Given the description of an element on the screen output the (x, y) to click on. 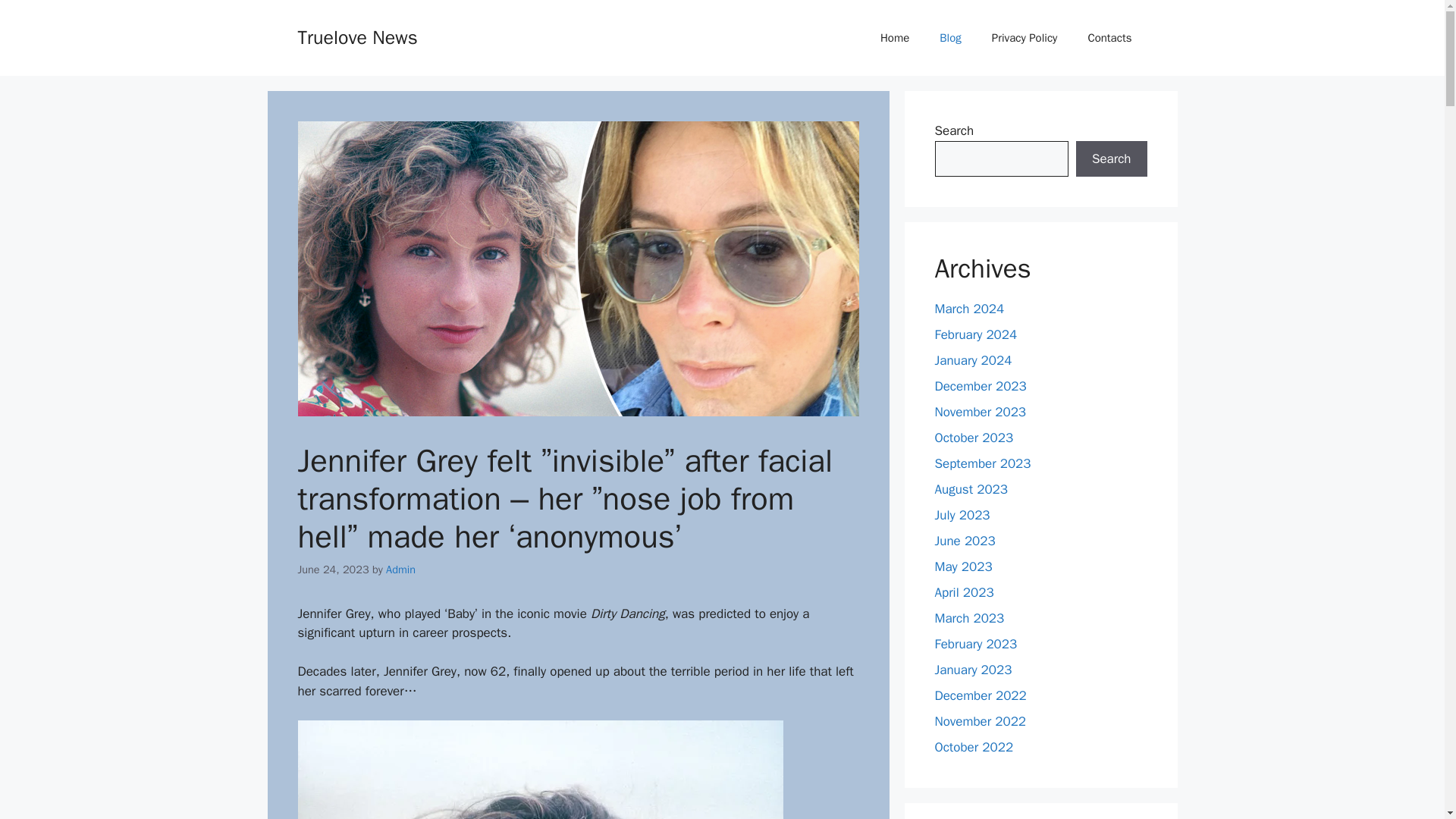
Admin (399, 569)
Contacts (1109, 37)
View all posts by Admin (399, 569)
February 2023 (975, 643)
December 2023 (980, 385)
October 2023 (973, 437)
September 2023 (982, 463)
Search (1111, 158)
Home (894, 37)
January 2024 (972, 360)
